Given the description of an element on the screen output the (x, y) to click on. 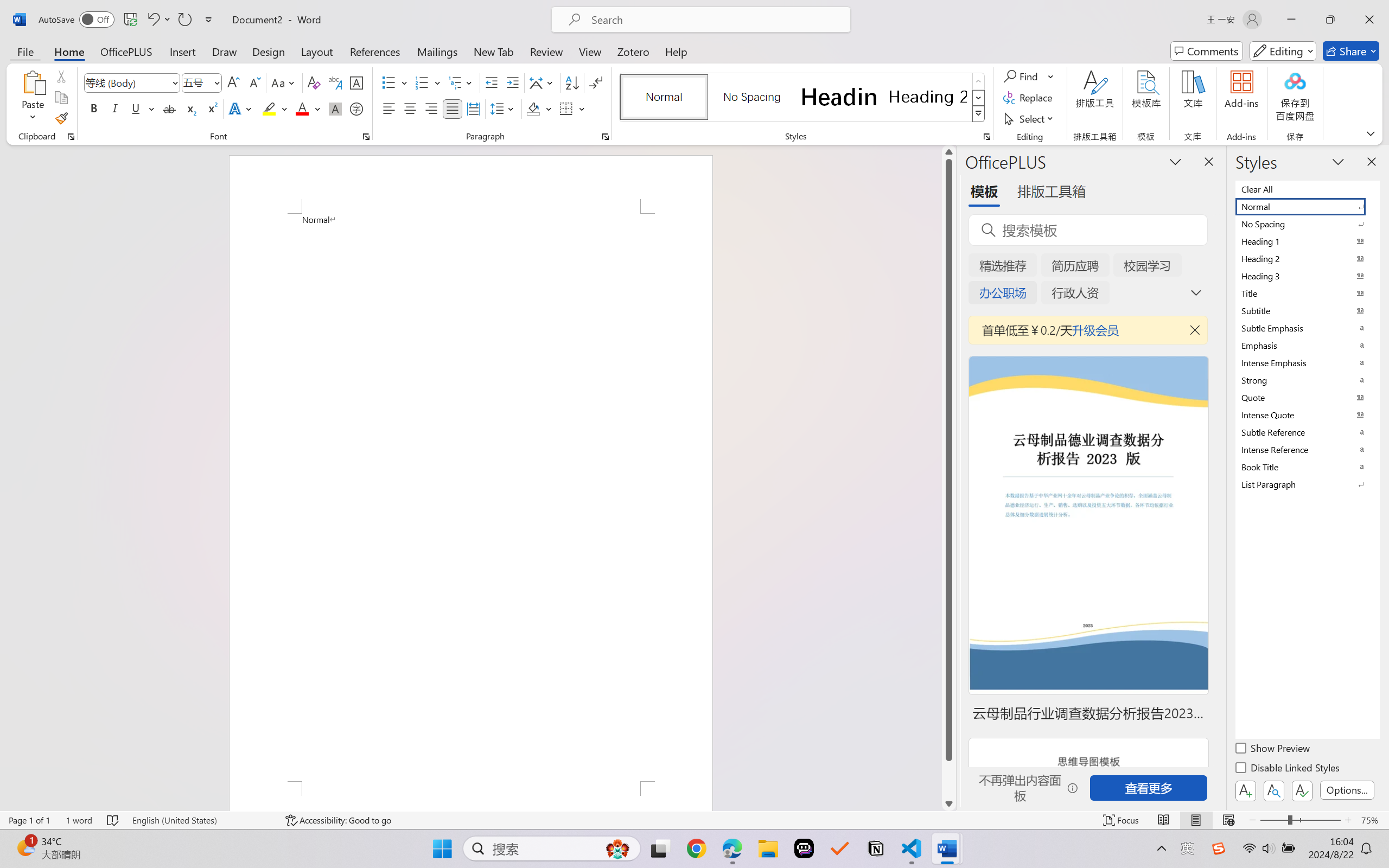
Close (1369, 19)
Character Border (356, 82)
List Paragraph (1306, 484)
Class: Image (1218, 847)
Show Preview (1273, 749)
Justify (452, 108)
Subtle Emphasis (1306, 327)
Page 1 content (470, 497)
AutomationID: DynamicSearchBoxGleamImage (617, 848)
Normal (1306, 206)
Asian Layout (542, 82)
Subscript (190, 108)
Office Clipboard... (70, 136)
